Given the description of an element on the screen output the (x, y) to click on. 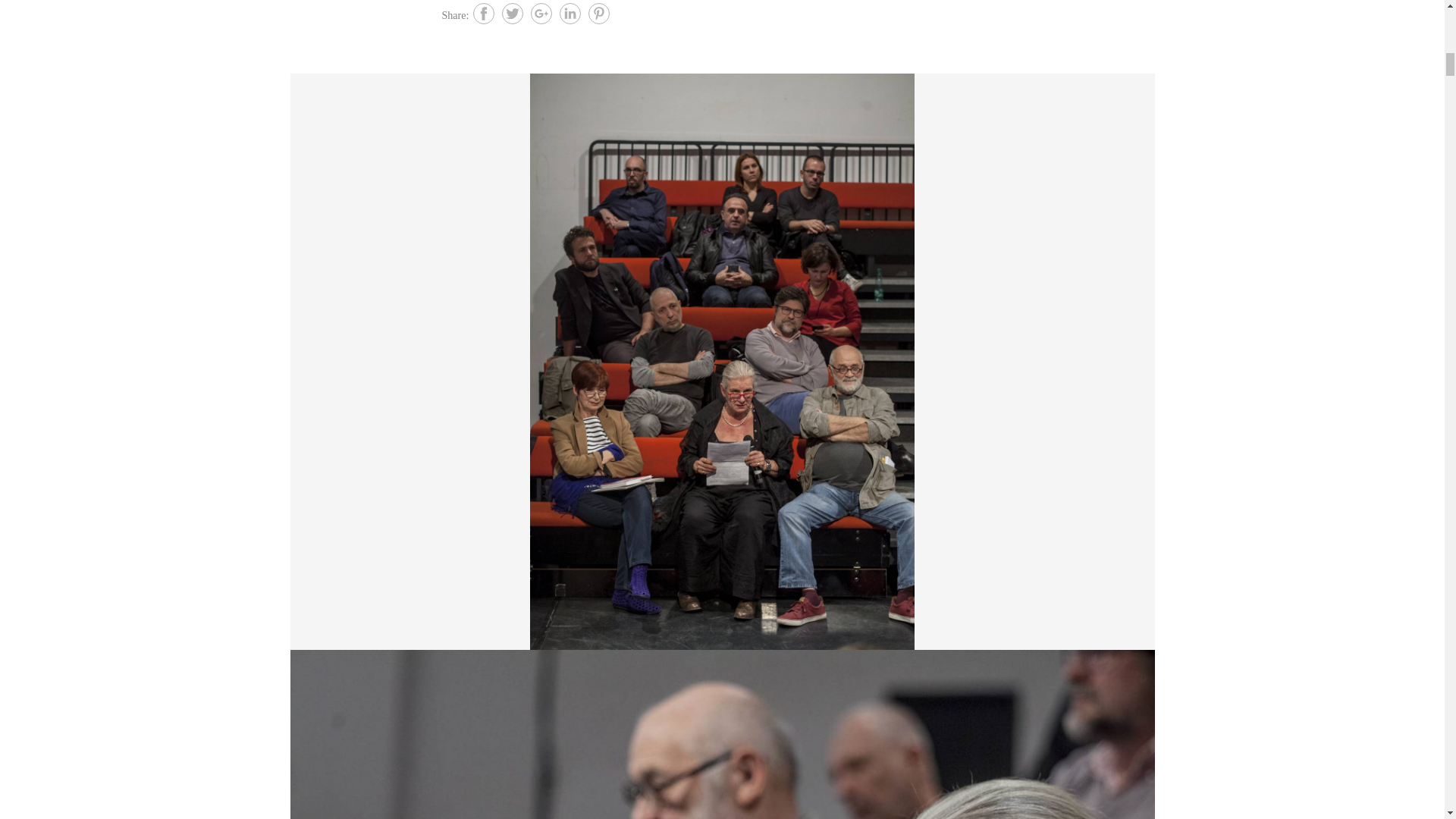
Share on Twitter (512, 13)
Share on Facebook (484, 13)
Share on LinkedIn (569, 13)
Share on Google Plus (541, 13)
Share on Pinterest (599, 13)
